Given the description of an element on the screen output the (x, y) to click on. 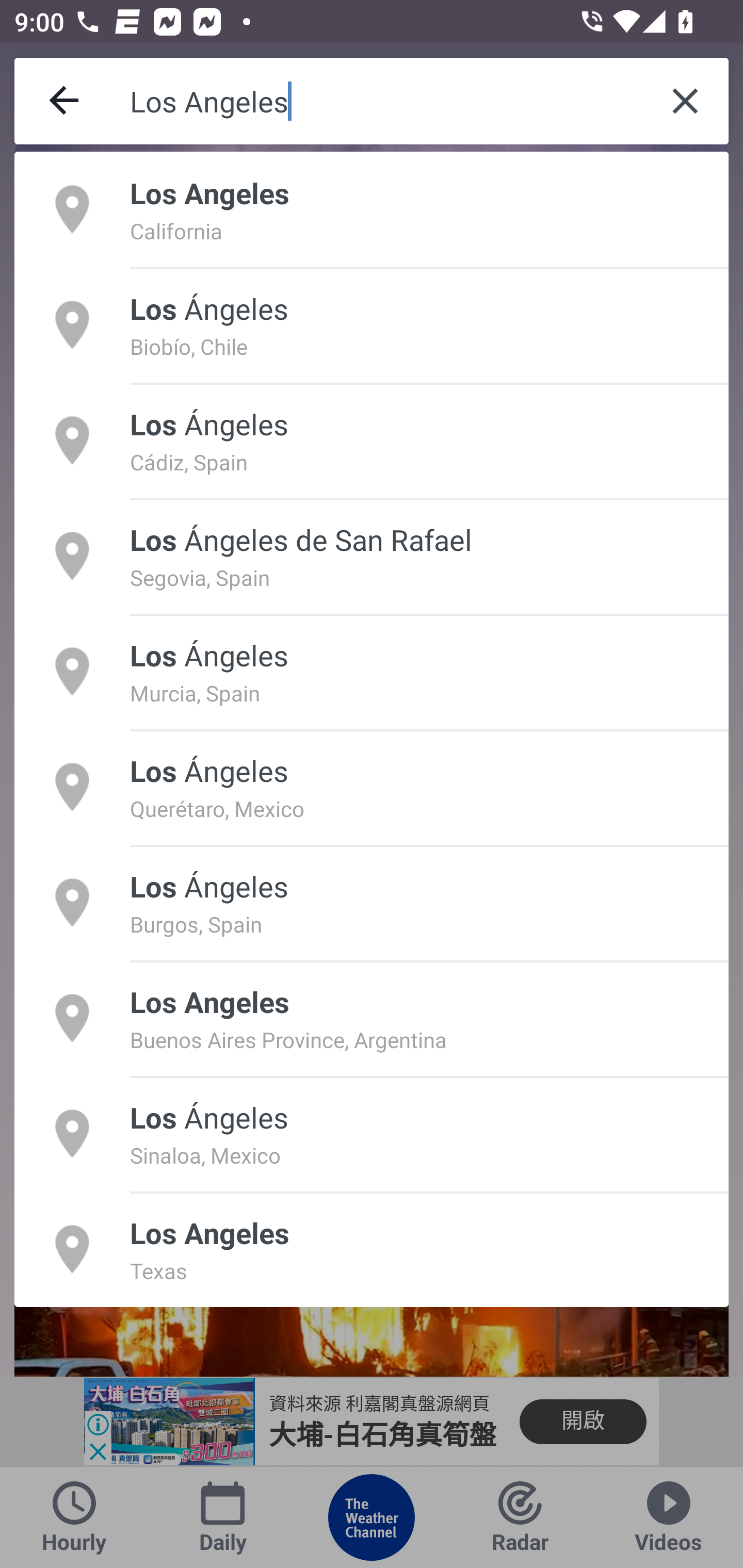
Back (64, 101)
Clear (684, 101)
Los Angeles (385, 100)
Los Angeles California (371, 209)
Los Ángeles Biobío, Chile (371, 324)
Los Ángeles Cádiz, Spain (371, 440)
Los Ángeles de San Rafael Segovia, Spain (371, 555)
Los Ángeles Murcia, Spain (371, 671)
Los Ángeles Querétaro, Mexico (371, 787)
Los Ángeles Burgos, Spain (371, 902)
Los Angeles Buenos Aires Province, Argentina (371, 1017)
Los Ángeles Sinaloa, Mexico (371, 1133)
Los Angeles Texas (371, 1249)
